Given the description of an element on the screen output the (x, y) to click on. 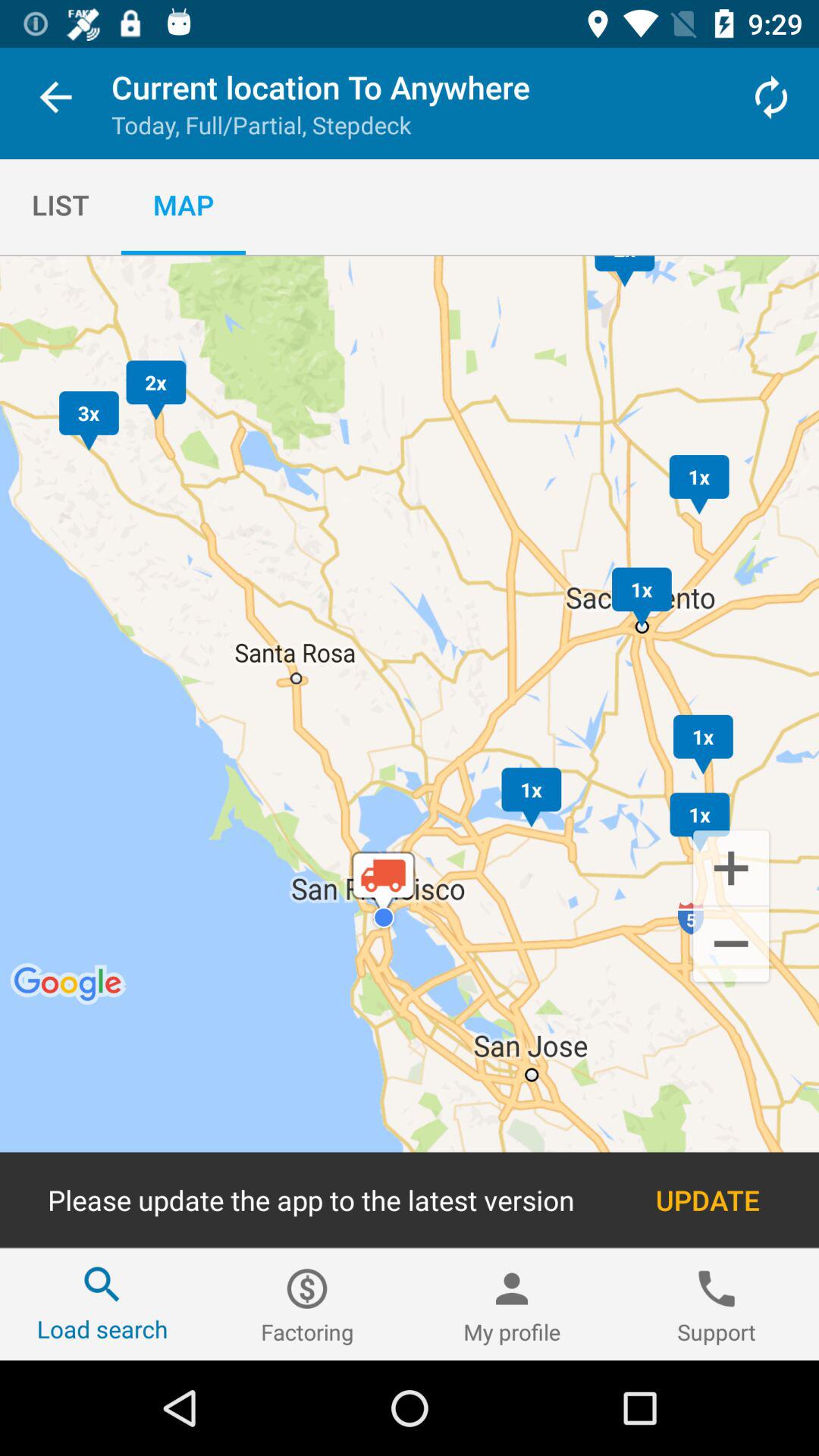
choose the my profile (511, 1304)
